Given the description of an element on the screen output the (x, y) to click on. 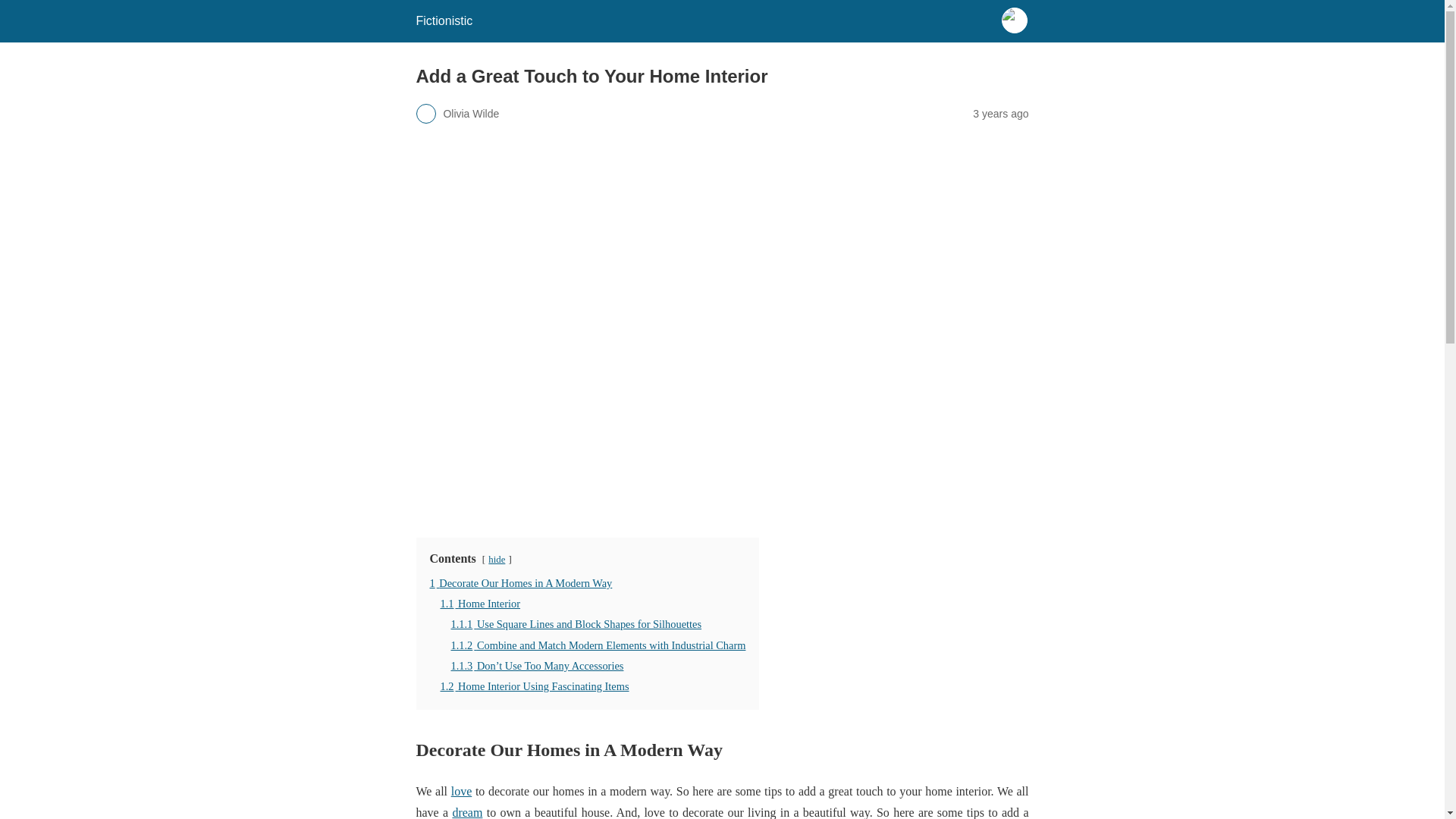
1.2 Home Interior Using Fascinating Items (533, 686)
hide (496, 559)
Fictionistic (442, 20)
1.1.1 Use Square Lines and Block Shapes for Silhouettes (575, 623)
love (461, 790)
1 Decorate Our Homes in A Modern Way (520, 582)
dream (466, 812)
1.1 Home Interior (479, 603)
